Given the description of an element on the screen output the (x, y) to click on. 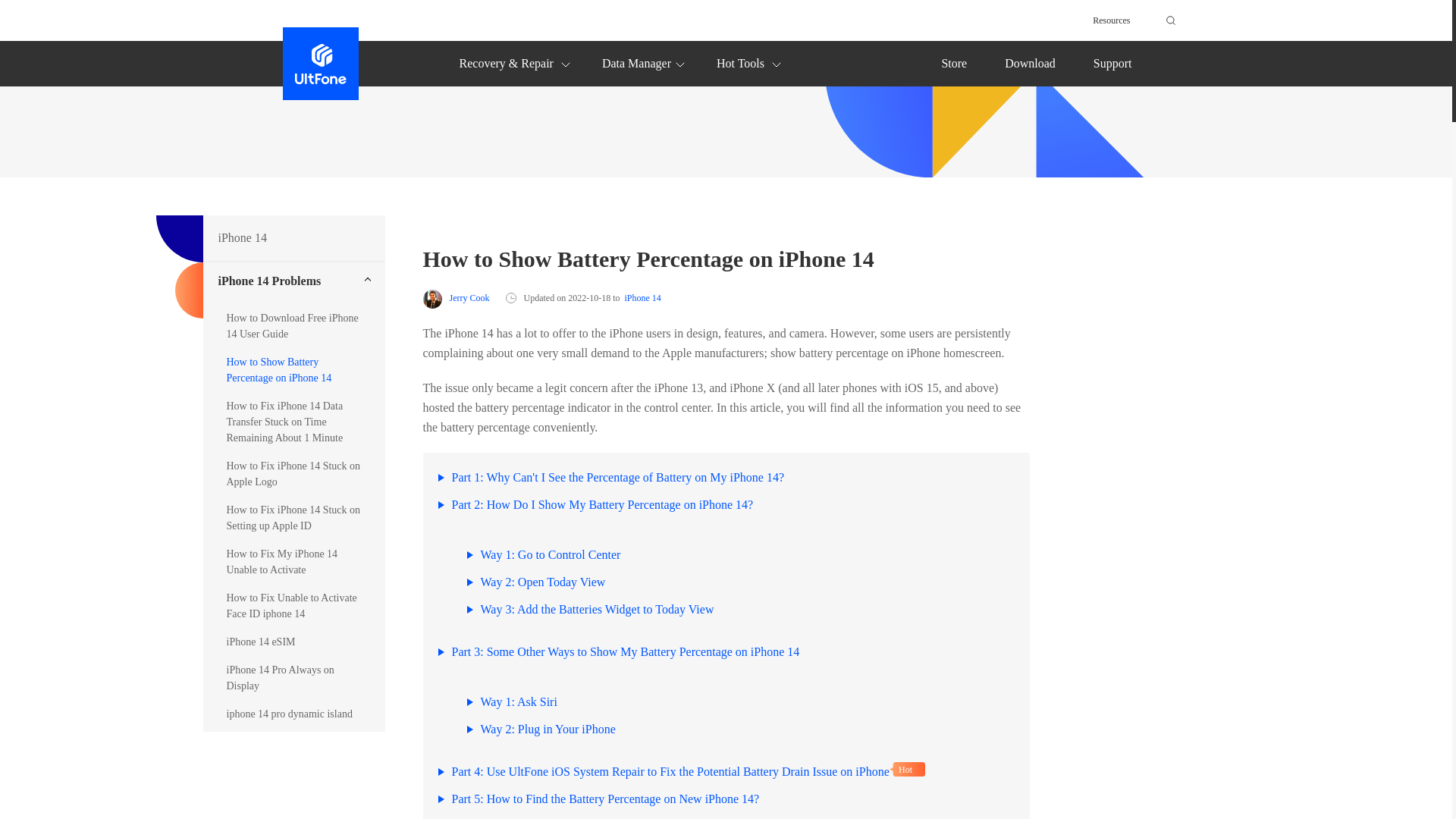
submit button (1167, 20)
Resources (1111, 20)
submit button (1167, 20)
submit button (1167, 20)
Store (953, 62)
Download (1029, 62)
Support (1112, 62)
Hot (906, 769)
Jerry Cook (456, 298)
